Given the description of an element on the screen output the (x, y) to click on. 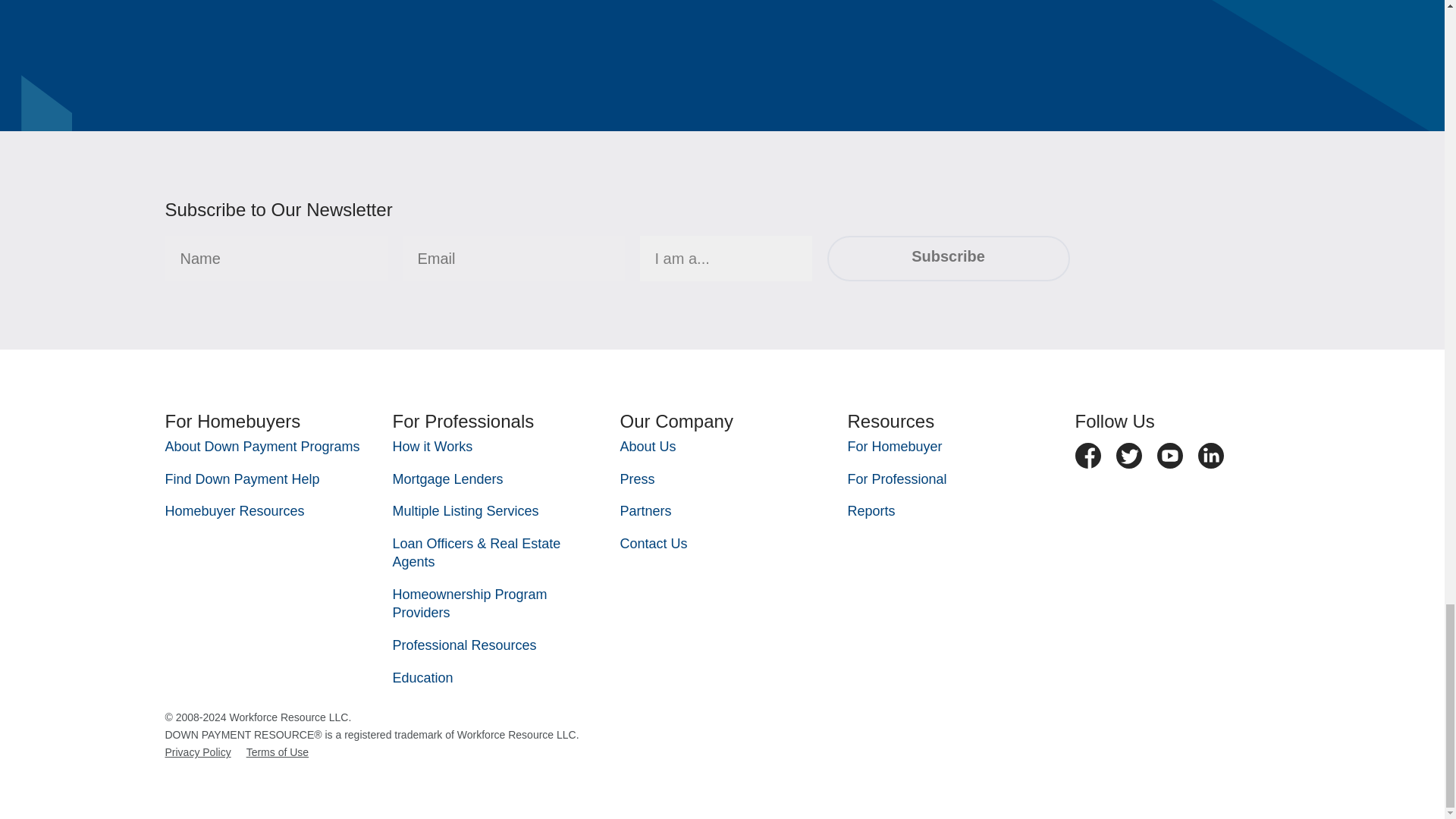
Subscribe (947, 258)
Homebuyer Resources (234, 510)
Find Down Payment Help (242, 478)
About Down Payment Programs (262, 446)
Subscribe (947, 258)
